Given the description of an element on the screen output the (x, y) to click on. 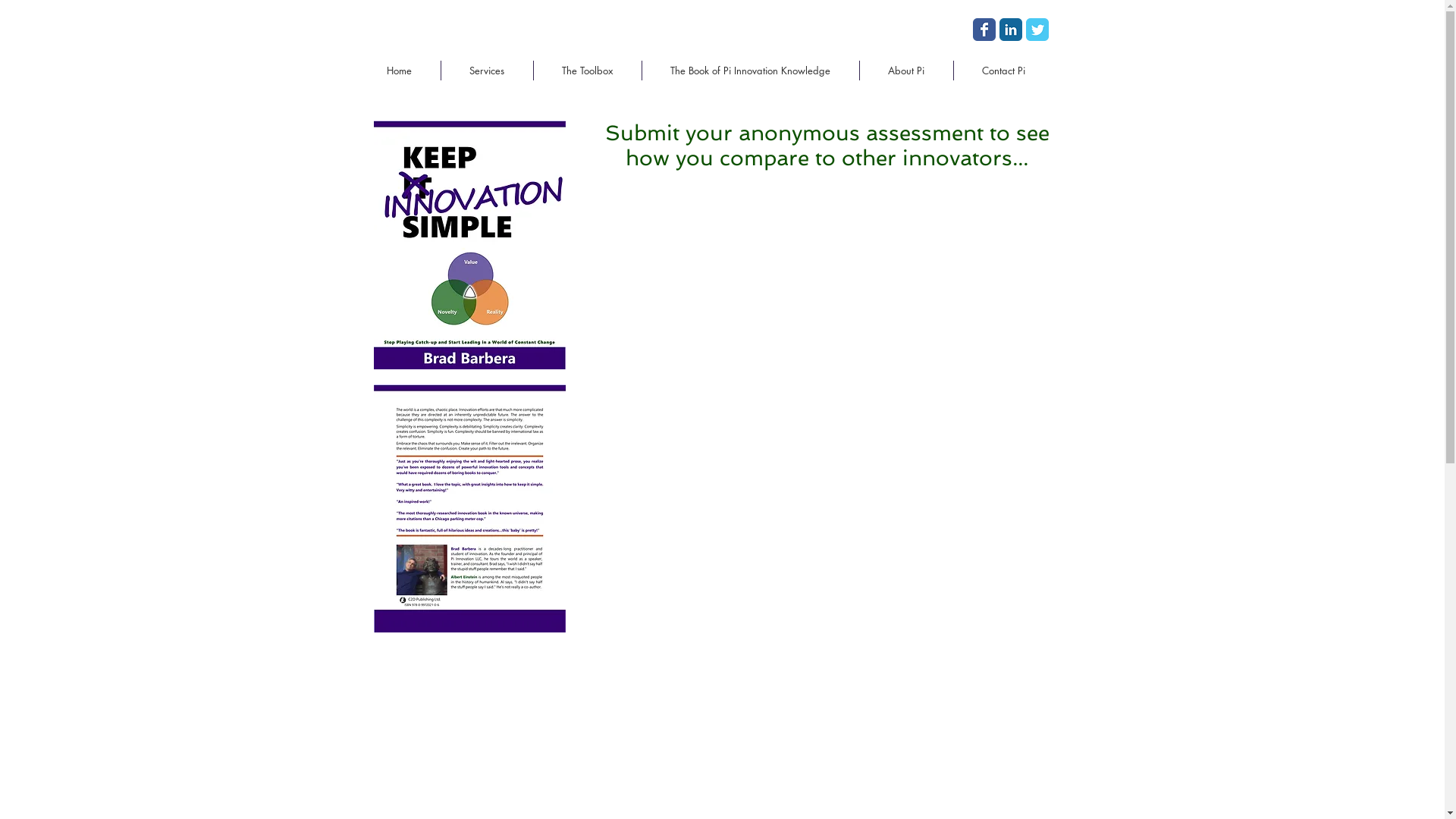
The Book of Pi Innovation Knowledge Element type: text (749, 70)
Contact Pi Element type: text (1003, 70)
Services Element type: text (487, 70)
The Toolbox Element type: text (587, 70)
Home Element type: text (398, 70)
About Pi Element type: text (906, 70)
Keep Innovation Simple Cover.jpg Element type: hover (468, 244)
